Given the description of an element on the screen output the (x, y) to click on. 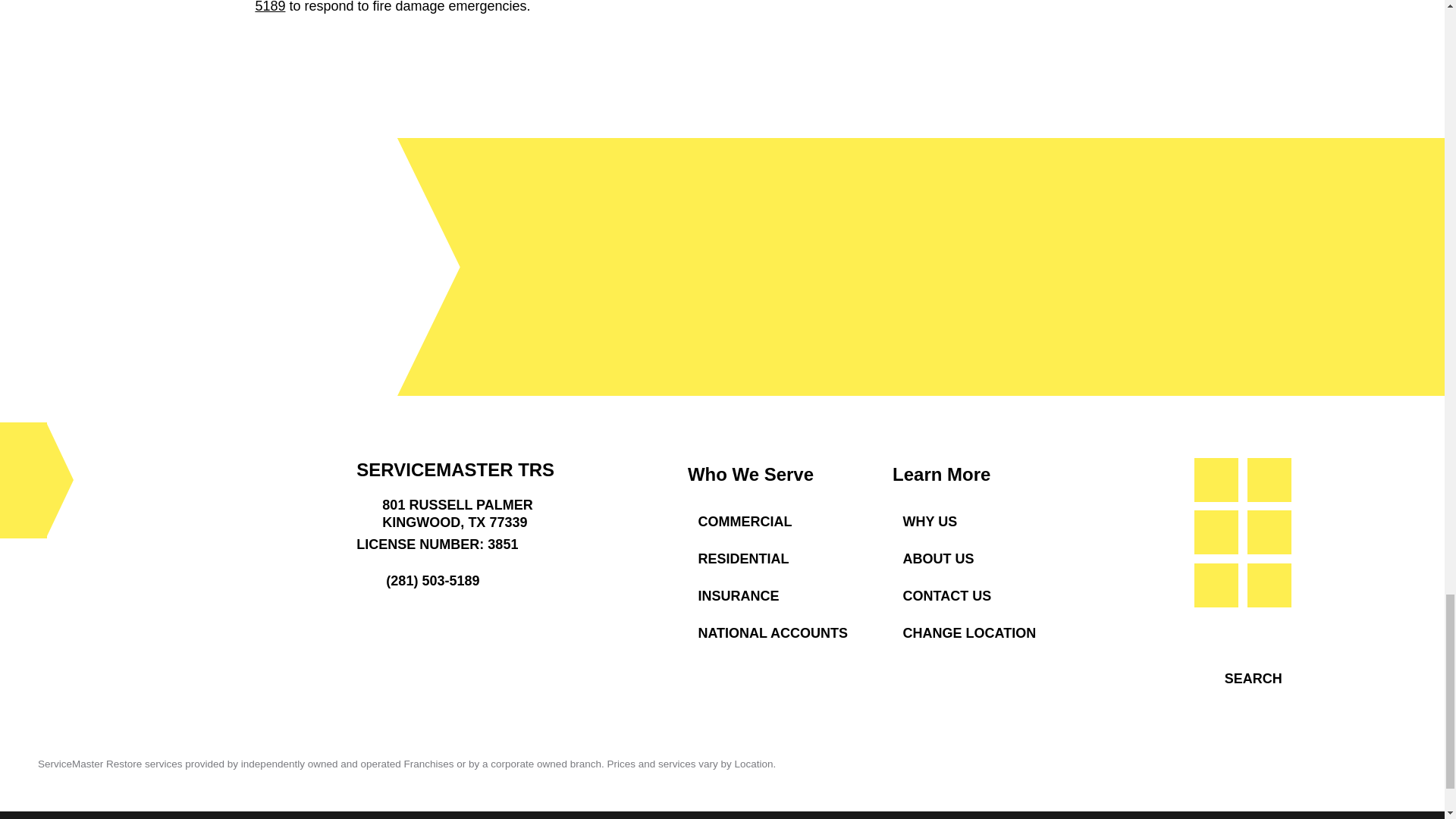
Yelp (1269, 585)
Google My Business (1216, 585)
Youtube (1216, 479)
Facebook (1269, 479)
Linkedin (1216, 532)
Instagram (1269, 532)
